Given the description of an element on the screen output the (x, y) to click on. 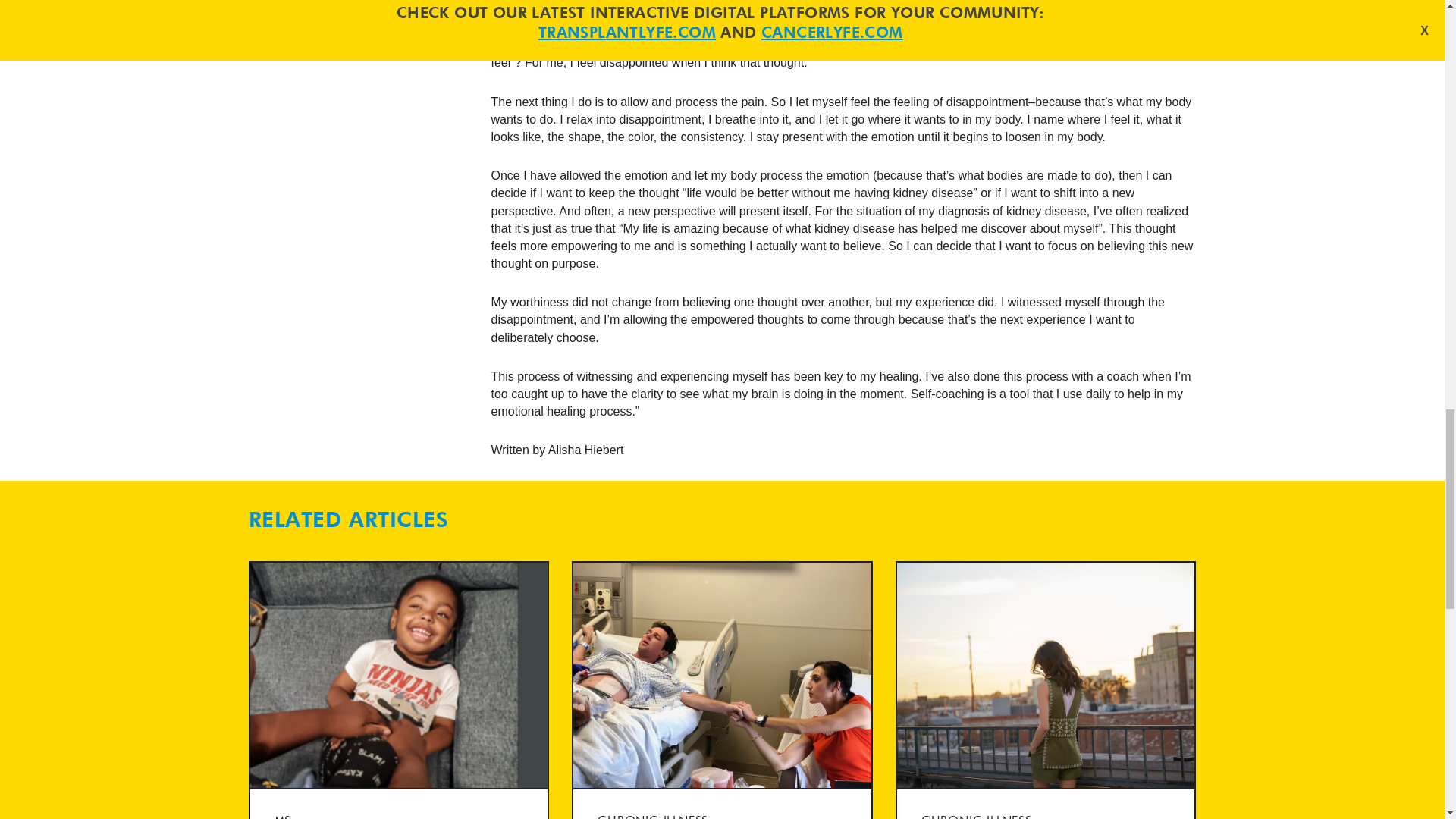
What Support Do Carers Need? (722, 690)
Tantrums and Toddlers and Flares, Oh My! (399, 690)
Unique Ways to Stop Boredom (1045, 690)
